Given the description of an element on the screen output the (x, y) to click on. 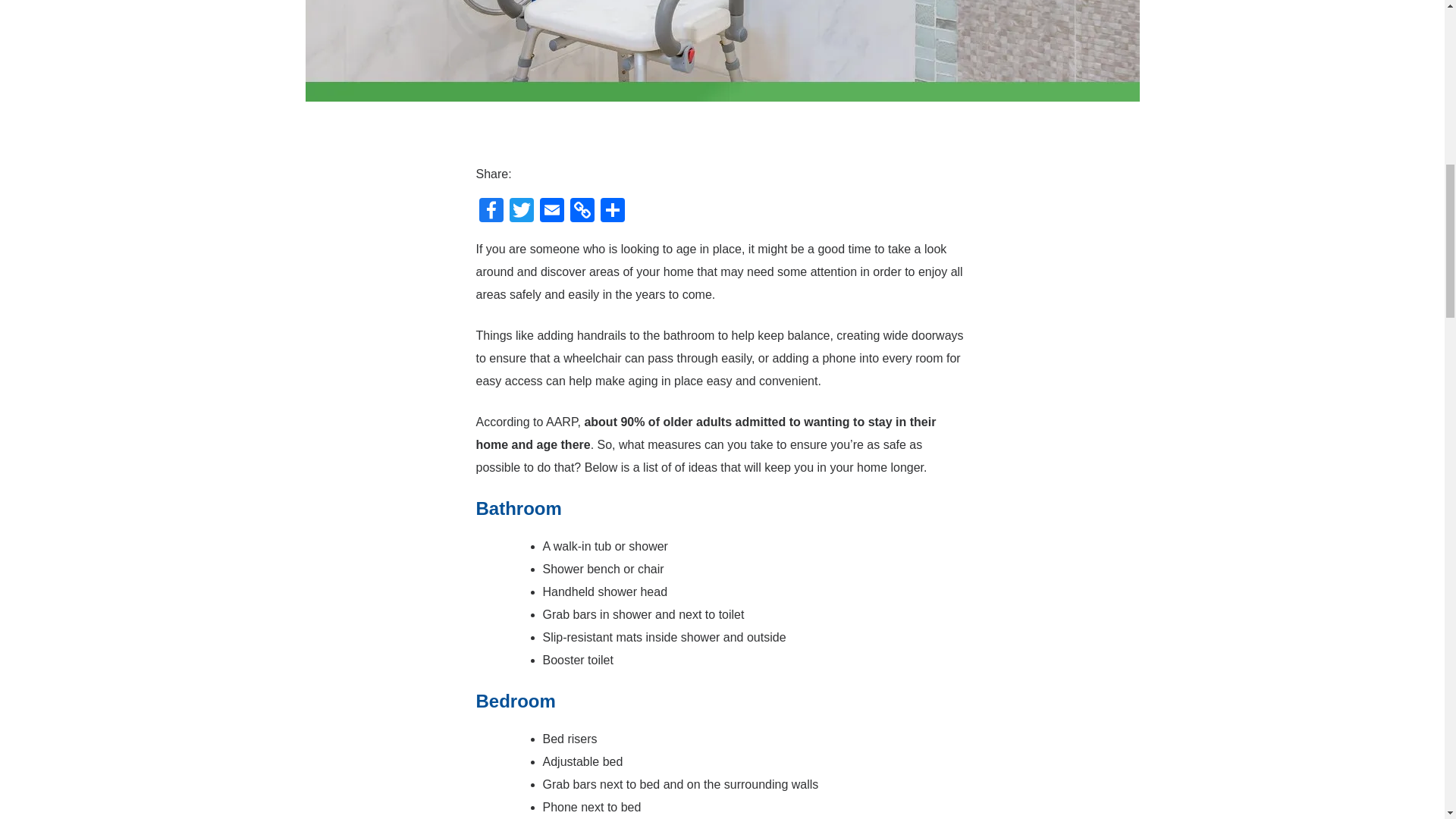
Facebook (491, 212)
Twitter (521, 212)
Copy Link (581, 212)
Email (552, 212)
